Given the description of an element on the screen output the (x, y) to click on. 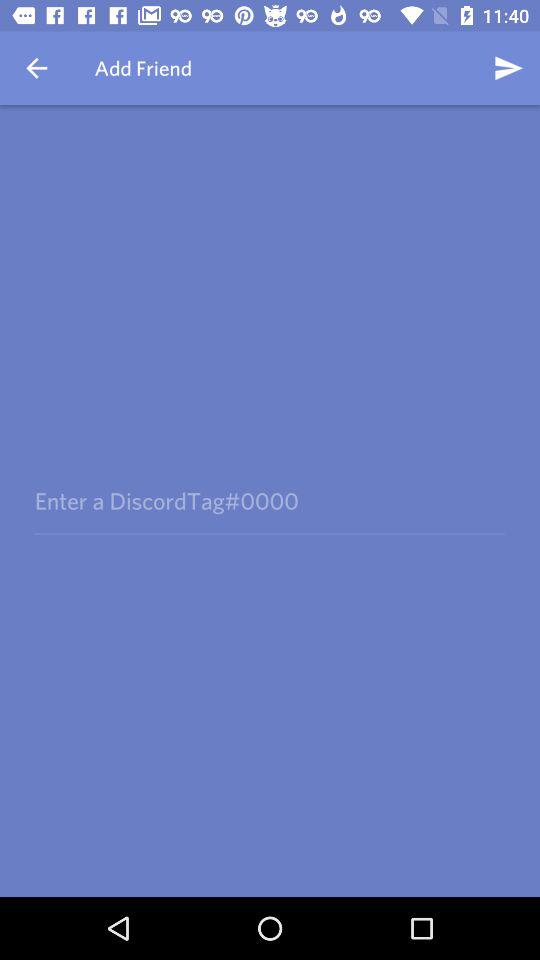
press icon at the center (269, 500)
